Given the description of an element on the screen output the (x, y) to click on. 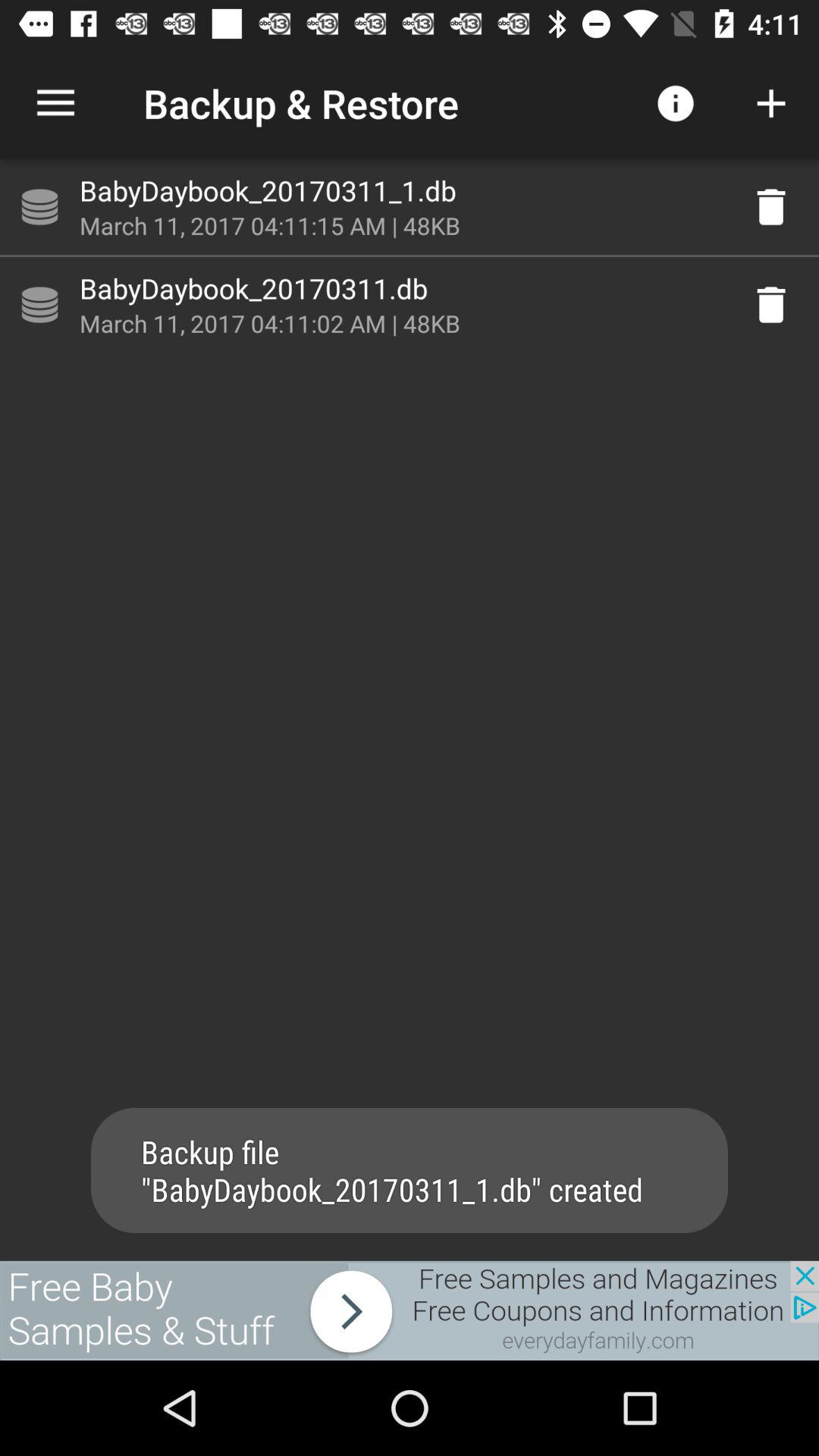
click on information icon (675, 103)
